Given the description of an element on the screen output the (x, y) to click on. 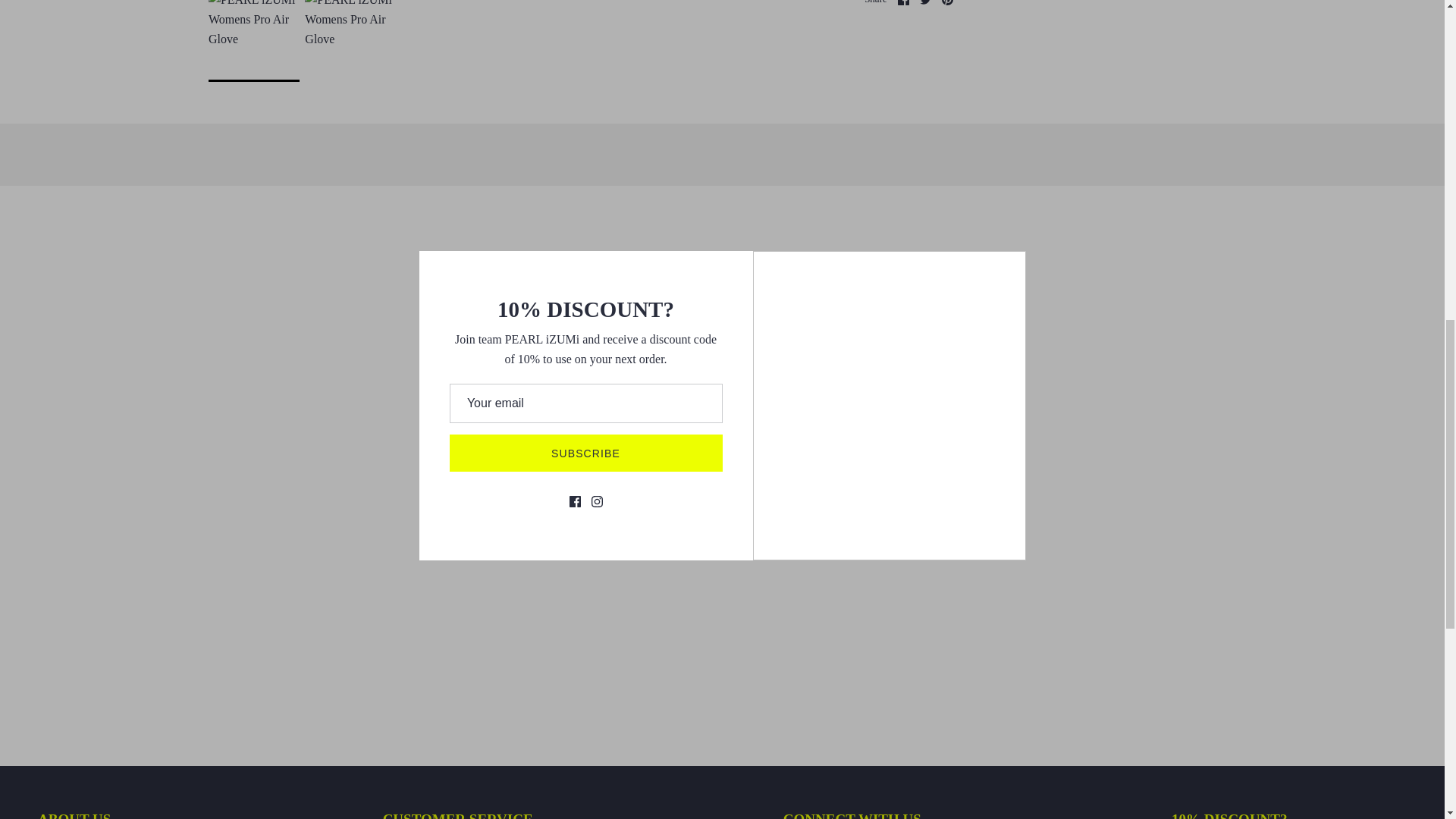
Facebook (903, 2)
Pinterest (947, 2)
Twitter (925, 2)
